Given the description of an element on the screen output the (x, y) to click on. 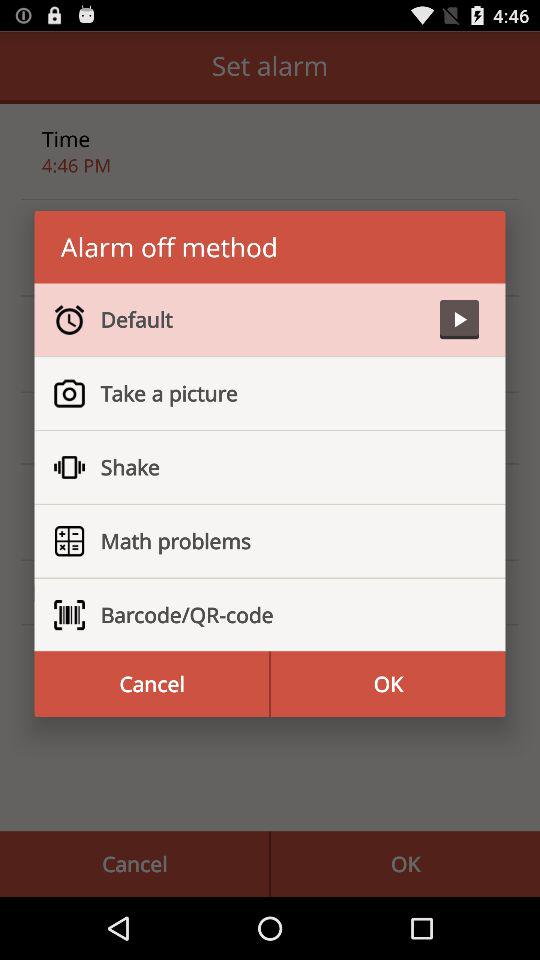
choose the icon at the bottom left corner (151, 683)
